Given the description of an element on the screen output the (x, y) to click on. 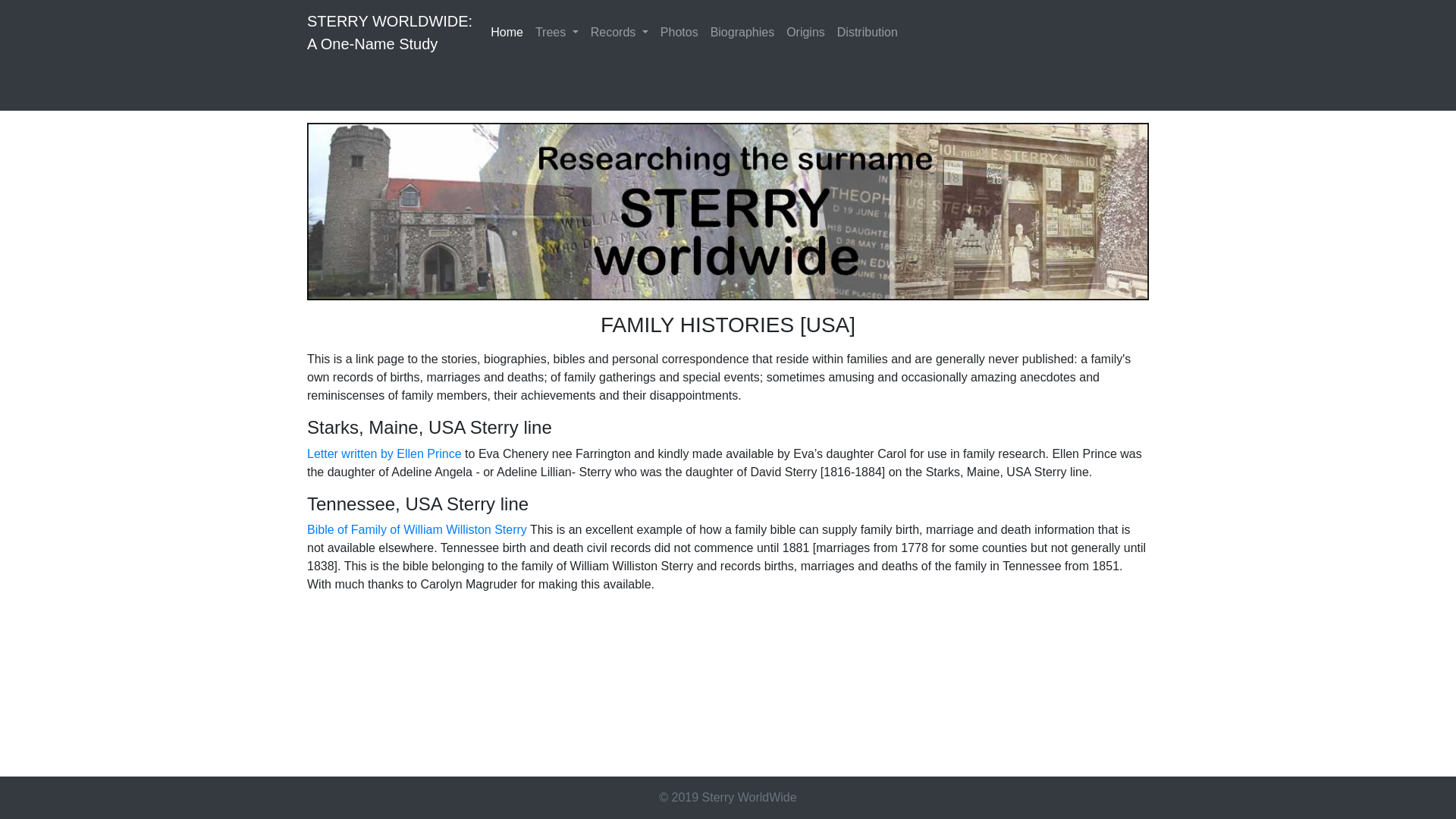
Bible of Family of William Williston Sterry (417, 529)
Letter written by Ellen Prince (384, 453)
Biographies (742, 32)
Distribution (867, 32)
Records (389, 31)
Trees (619, 32)
Origins (557, 32)
Photos (805, 32)
Home (678, 32)
